Given the description of an element on the screen output the (x, y) to click on. 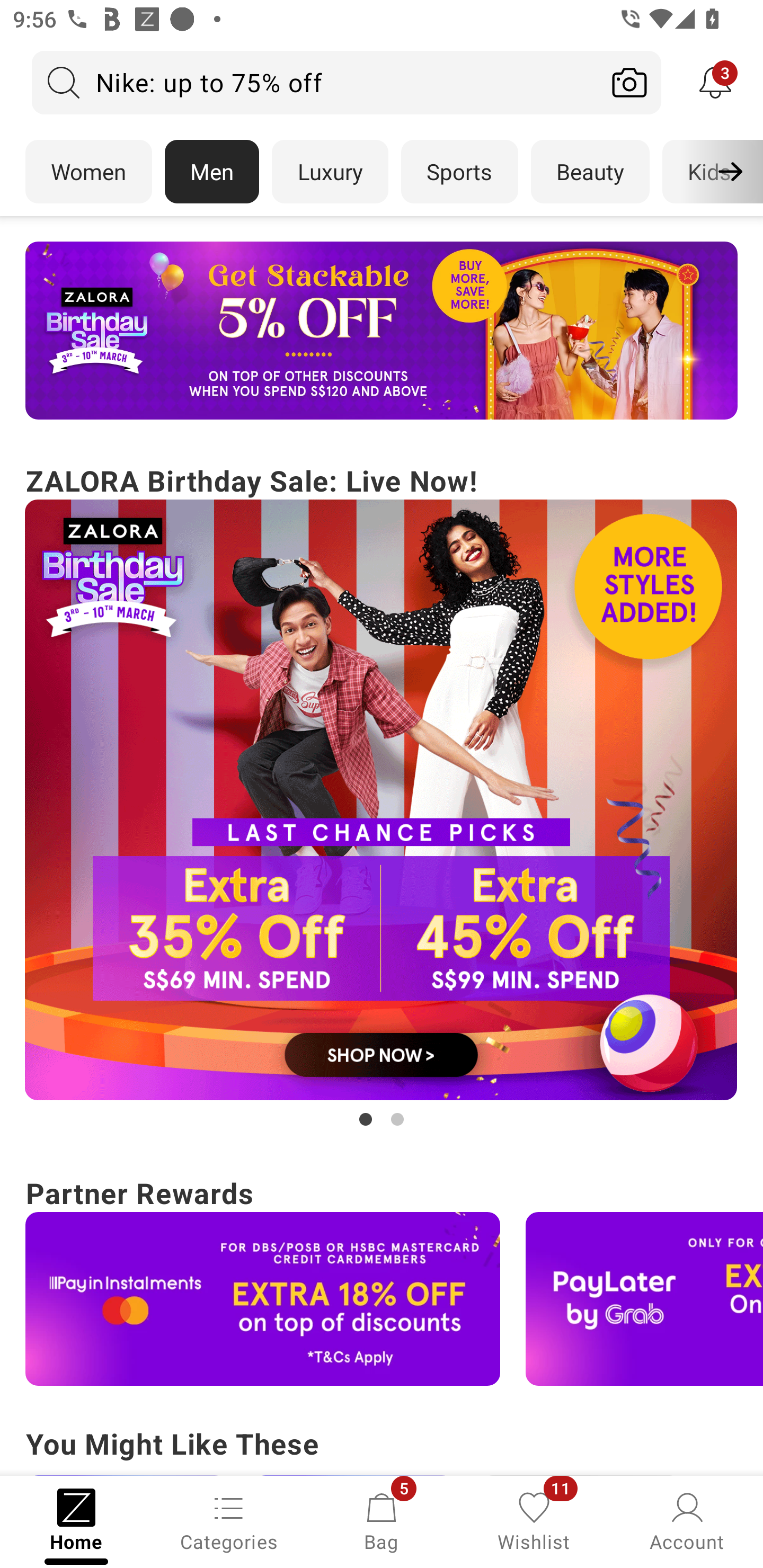
Nike: up to 75% off (314, 82)
Women (88, 171)
Men (211, 171)
Luxury (329, 171)
Sports (459, 171)
Beauty (590, 171)
Campaign banner (381, 330)
ZALORA Birthday Sale: Live Now! Campaign banner (381, 794)
Campaign banner (381, 800)
Partner Rewards Campaign banner Campaign banner (381, 1277)
Campaign banner (262, 1299)
Campaign banner (644, 1299)
Categories (228, 1519)
Bag, 5 new notifications Bag (381, 1519)
Wishlist, 11 new notifications Wishlist (533, 1519)
Account (686, 1519)
